Given the description of an element on the screen output the (x, y) to click on. 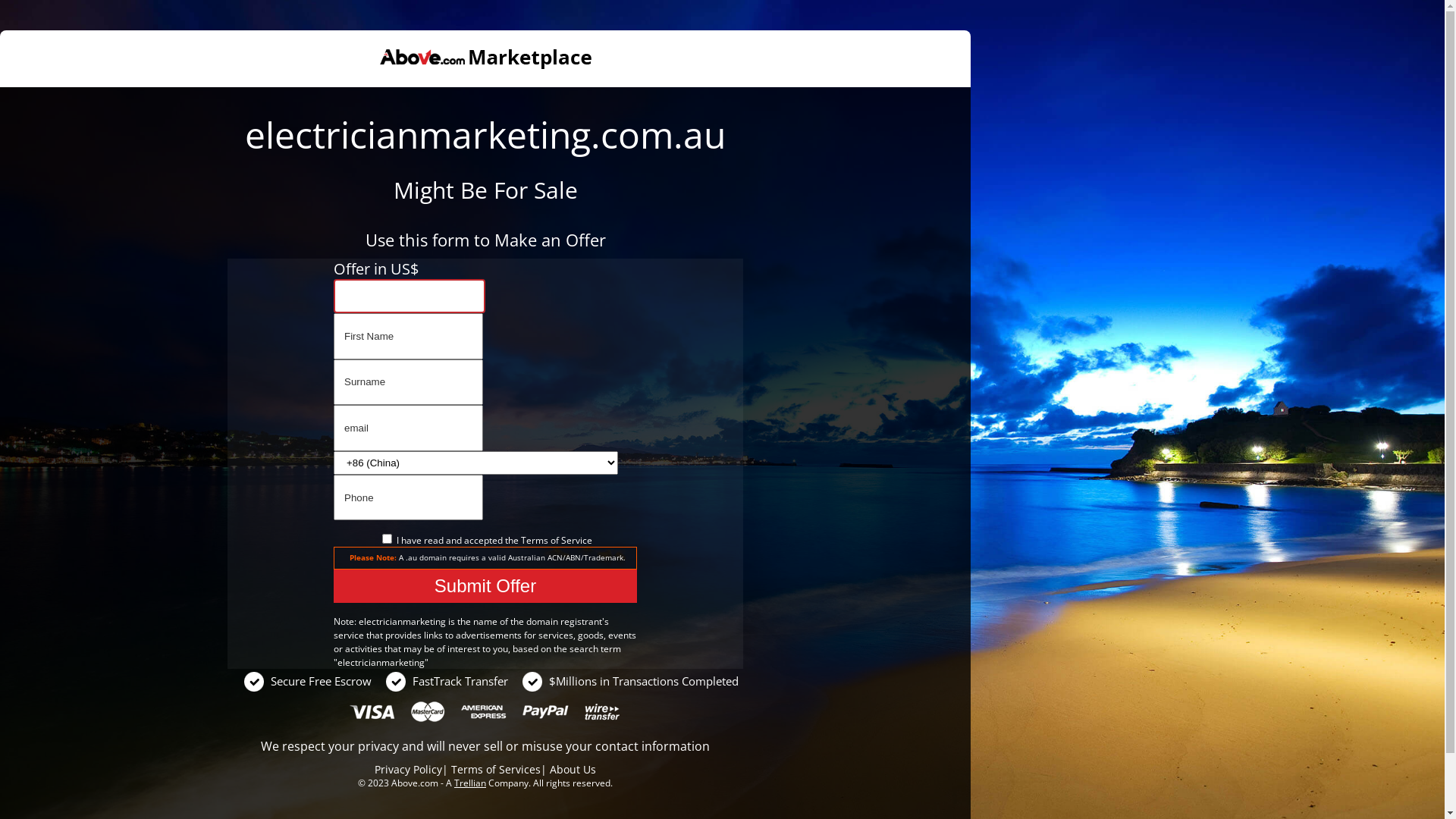
Trellian Element type: text (470, 782)
About Us Element type: text (572, 769)
Submit Offer Element type: text (485, 585)
Privacy Policy Element type: text (408, 769)
Terms Element type: text (533, 539)
Terms of Services Element type: text (495, 769)
